Given the description of an element on the screen output the (x, y) to click on. 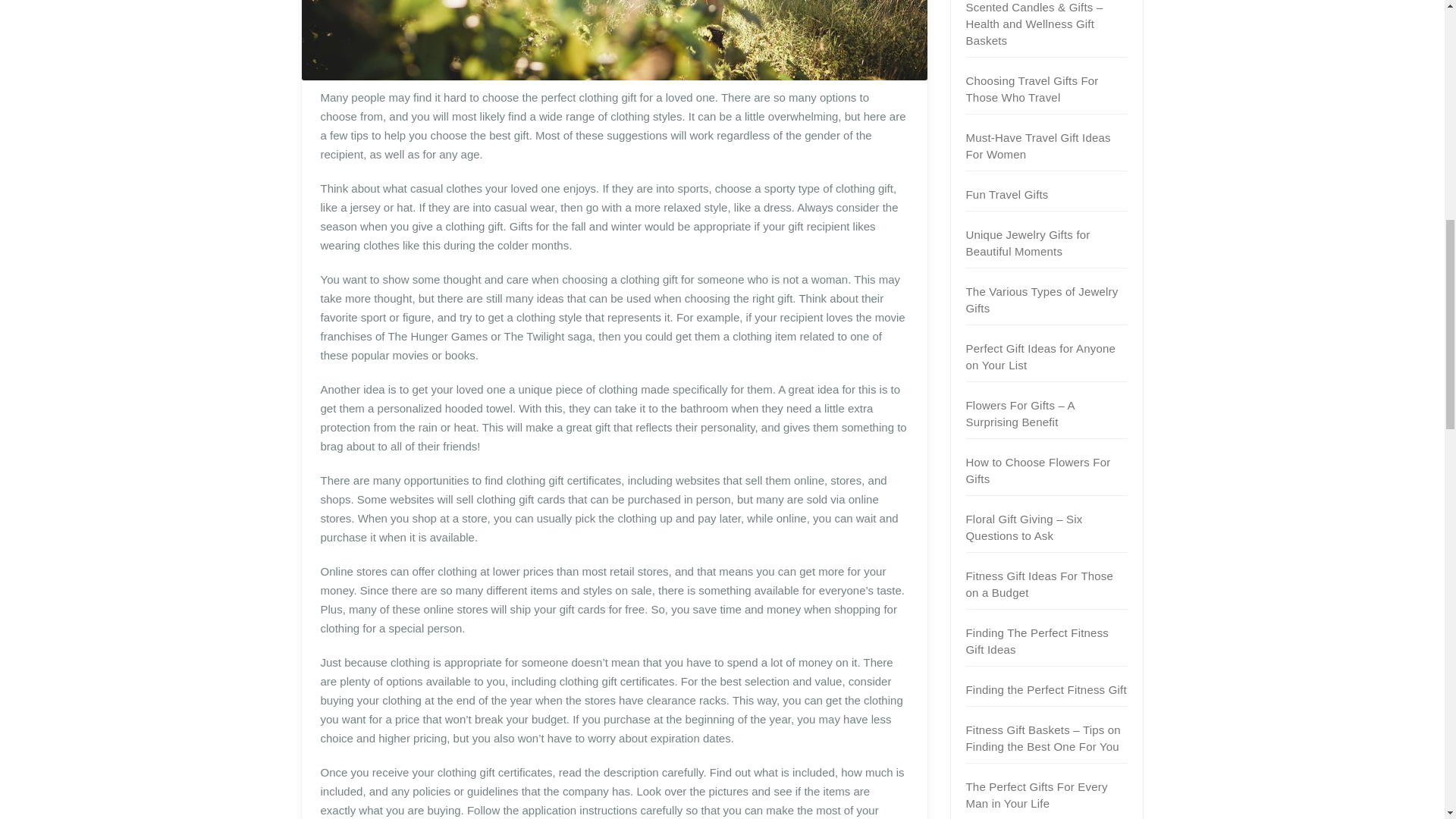
Finding the Perfect Fitness Gift (1046, 689)
How to Choose Flowers For Gifts (1038, 470)
Fun Travel Gifts (1007, 194)
Fitness Gift Ideas For Those on a Budget (1039, 583)
The Perfect Gifts For Every Man in Your Life (1037, 794)
Must-Have Travel Gift Ideas For Women (1038, 145)
Choosing Travel Gifts For Those Who Travel (1032, 89)
Finding The Perfect Fitness Gift Ideas (1037, 641)
Perfect Gift Ideas for Anyone on Your List (1041, 356)
The Various Types of Jewelry Gifts (1042, 299)
